Given the description of an element on the screen output the (x, y) to click on. 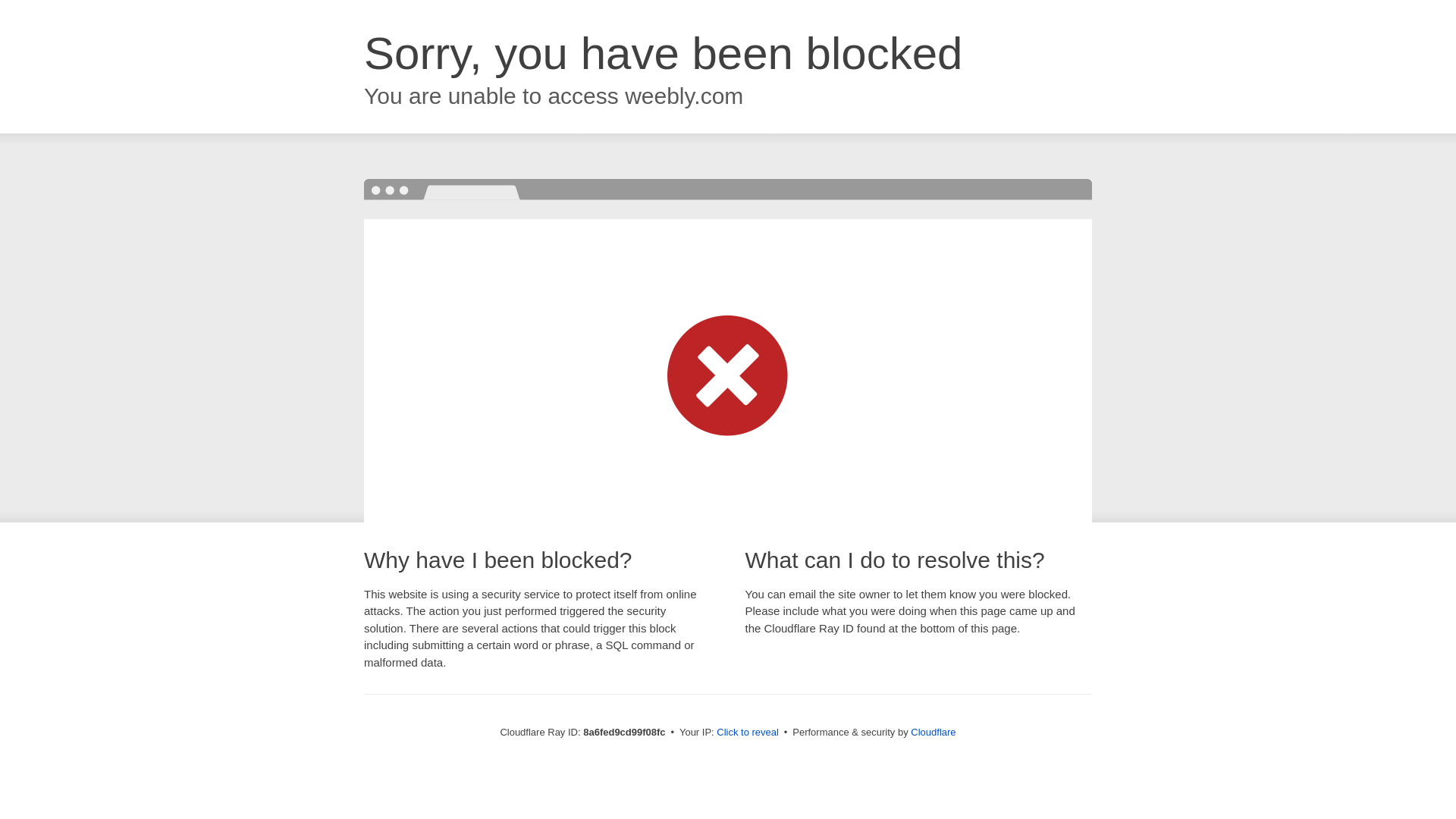
Cloudflare (933, 731)
Click to reveal (747, 732)
